Given the description of an element on the screen output the (x, y) to click on. 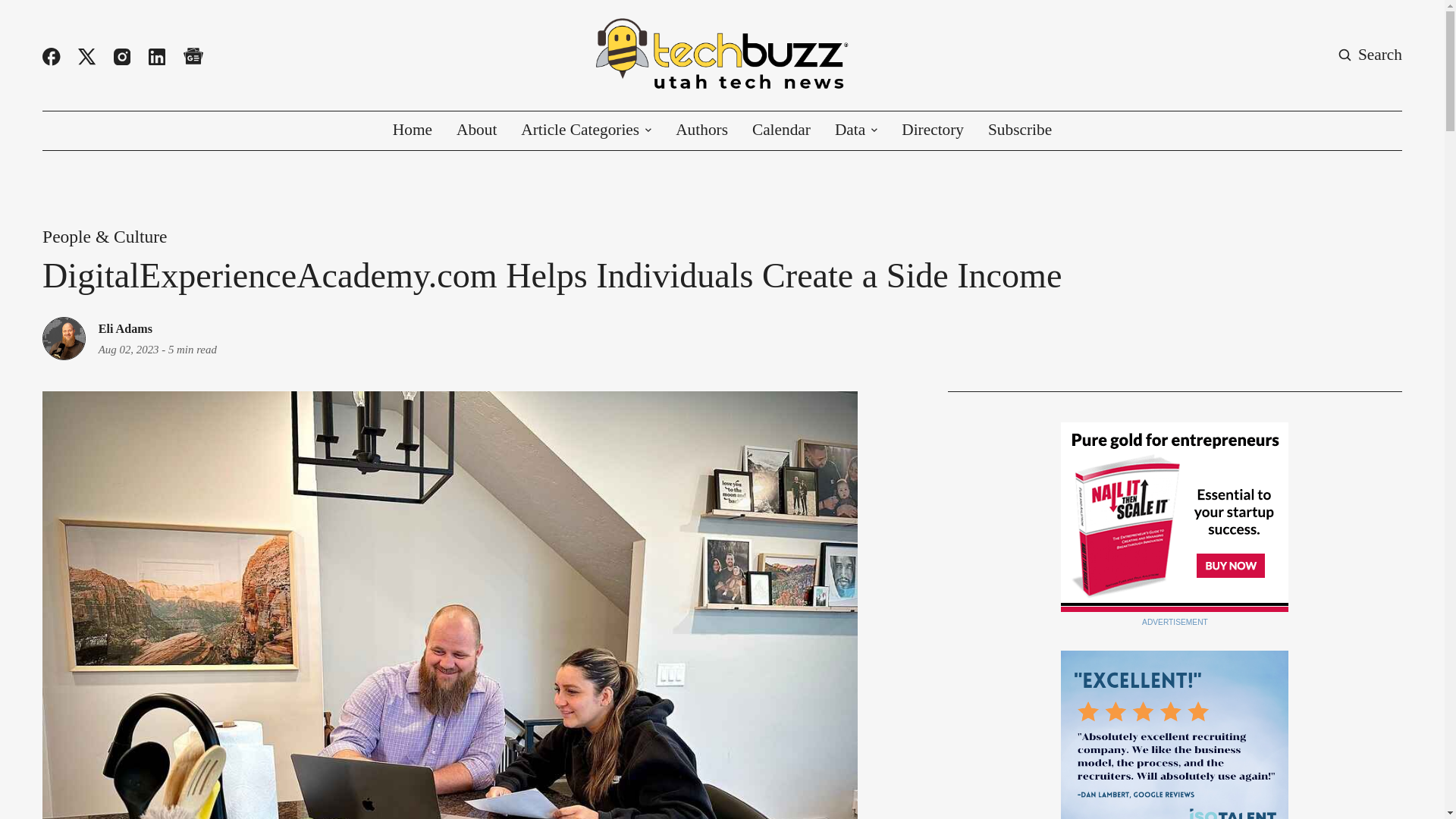
Directory (932, 130)
About (476, 130)
Search (1370, 54)
Subscribe (1019, 130)
Authors (701, 130)
Calendar (781, 130)
Eli Adams (125, 329)
Home (412, 130)
